Given the description of an element on the screen output the (x, y) to click on. 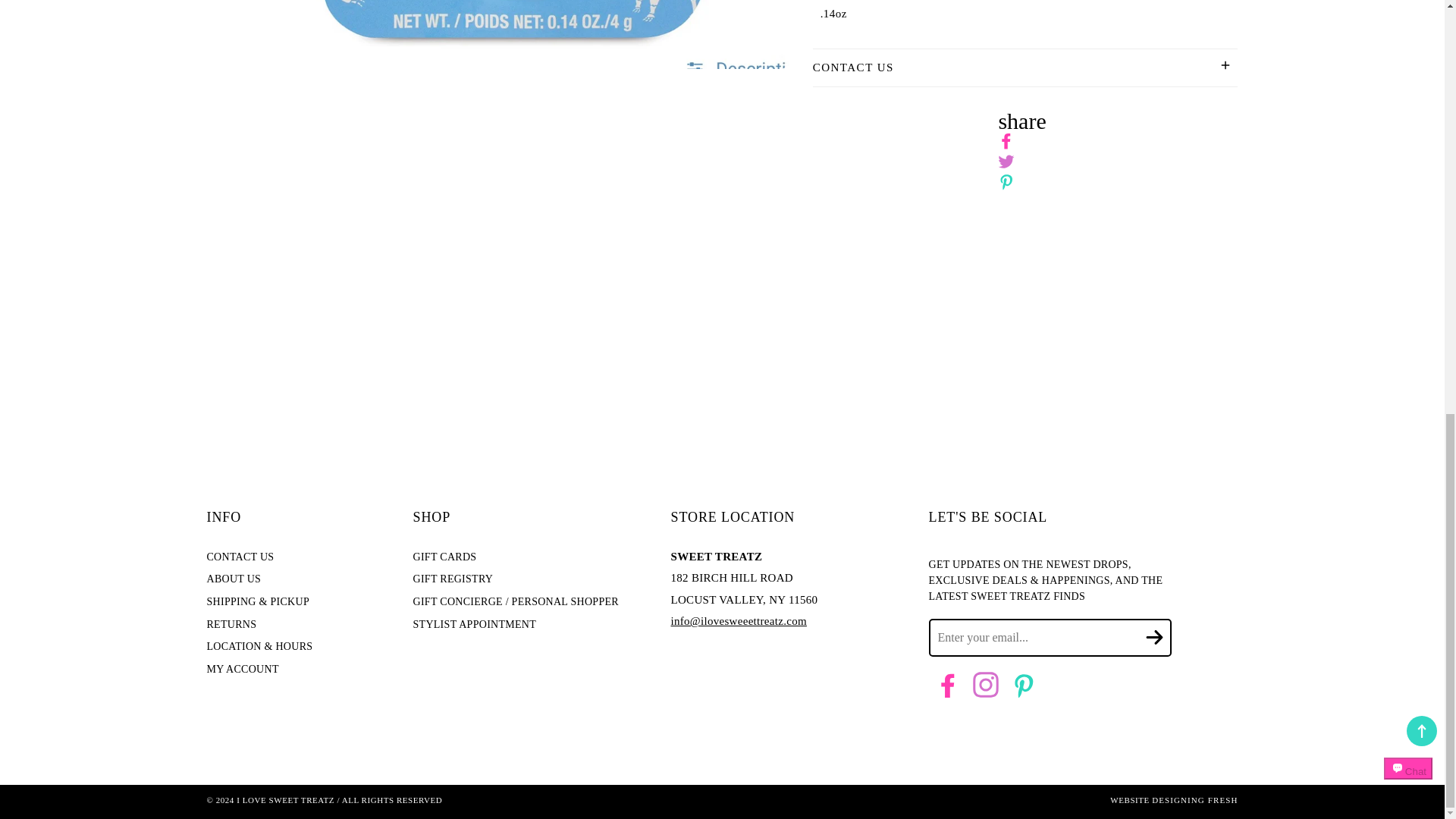
Share on Facebook (1005, 141)
Share on Twitter (1005, 161)
Share on Pinterest (1005, 182)
